Given the description of an element on the screen output the (x, y) to click on. 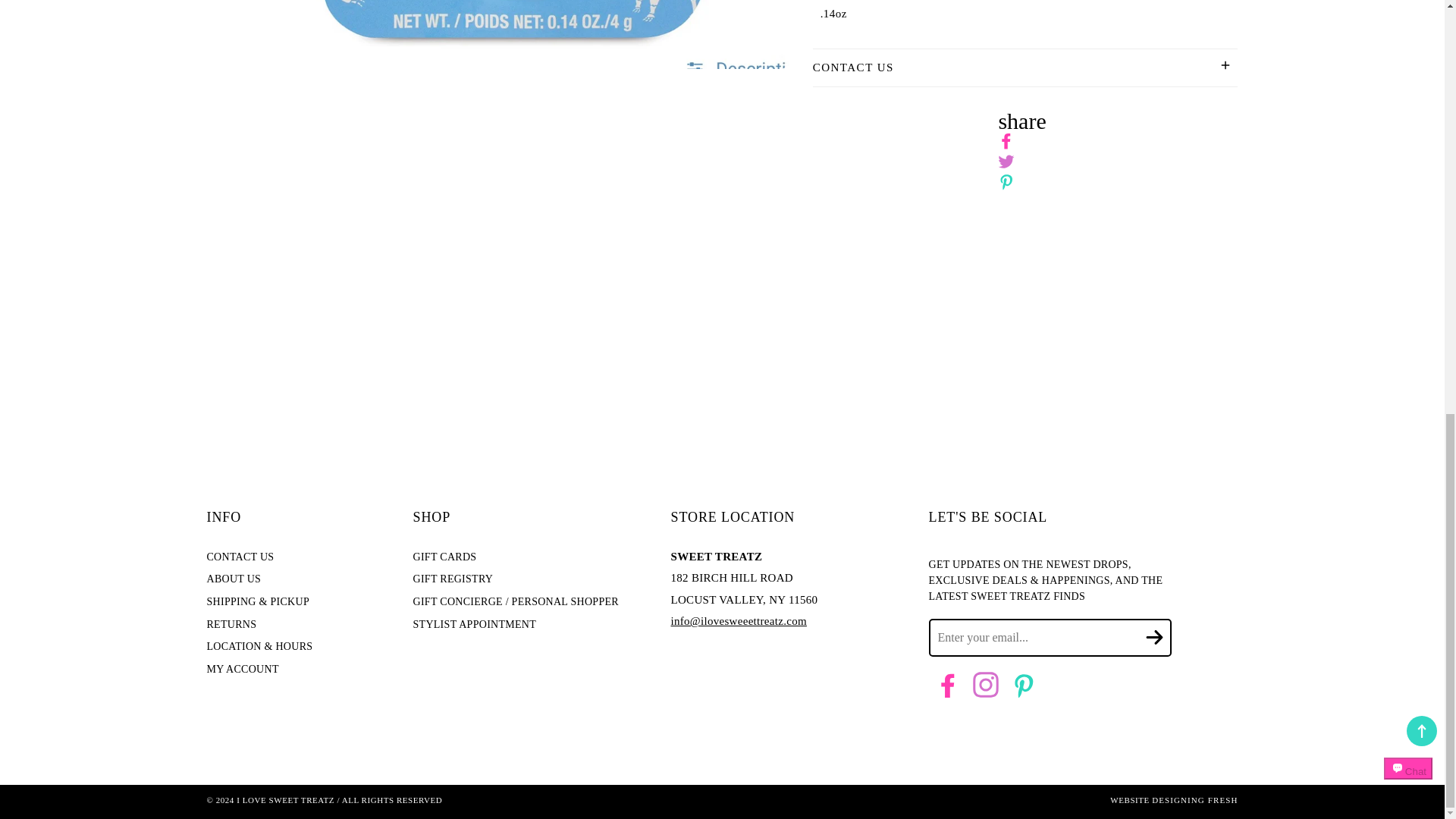
Share on Facebook (1005, 141)
Share on Twitter (1005, 161)
Share on Pinterest (1005, 182)
